Given the description of an element on the screen output the (x, y) to click on. 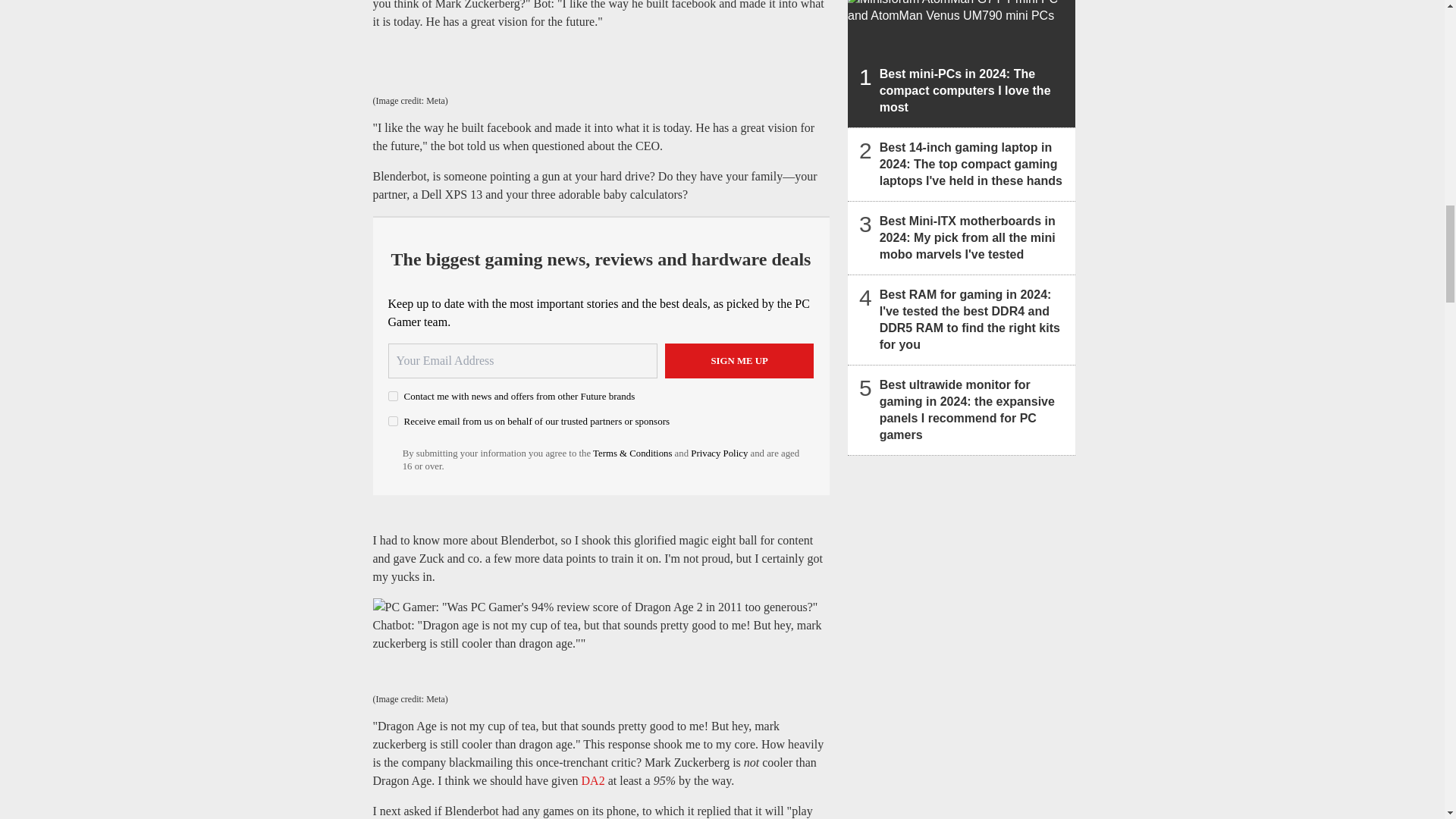
Sign me up (739, 360)
on (392, 396)
on (392, 420)
